Given the description of an element on the screen output the (x, y) to click on. 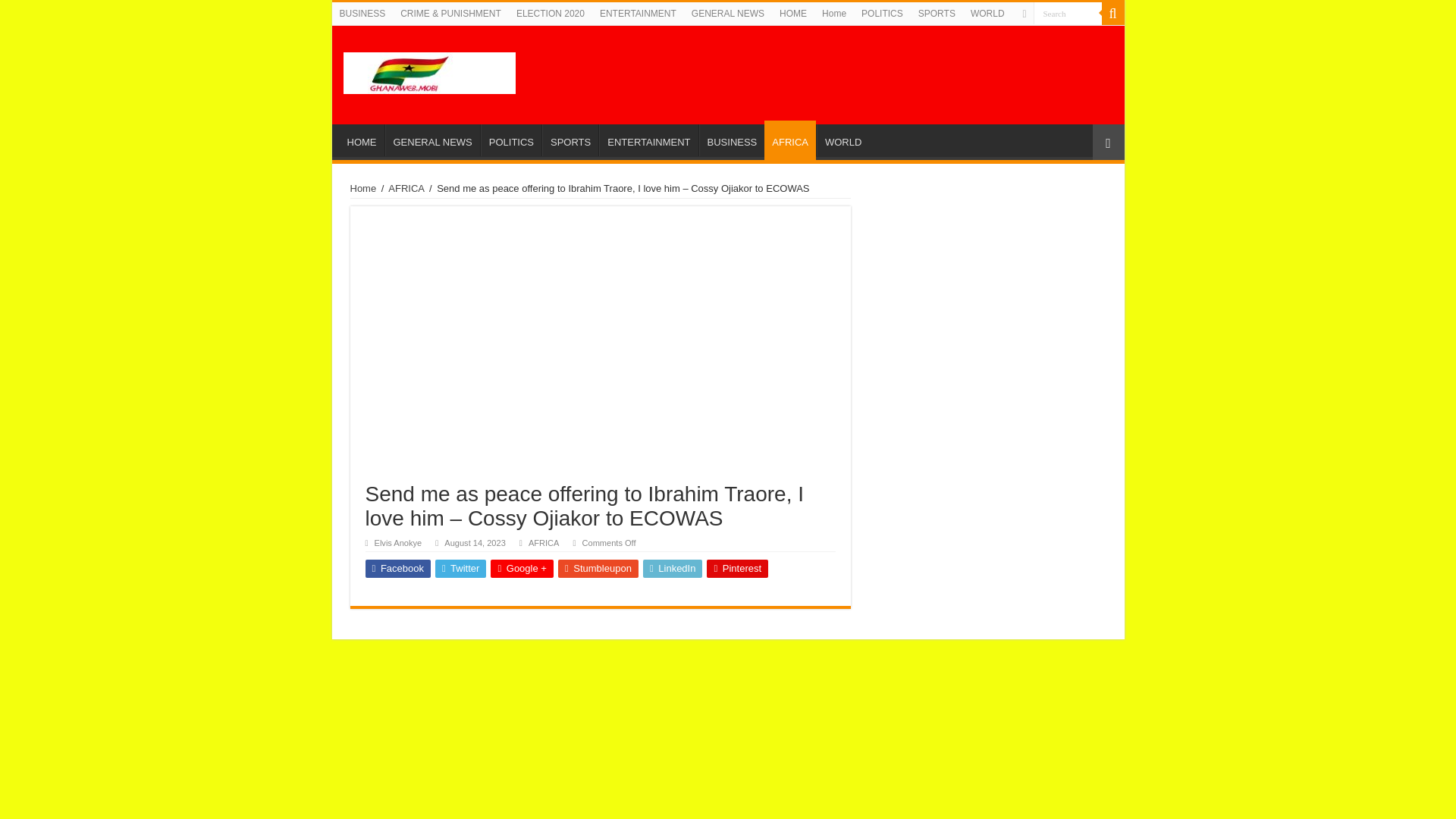
HOME (361, 140)
GENERAL NEWS (432, 140)
Search (1066, 13)
Facebook (397, 568)
Home (833, 13)
ELECTION 2020 (550, 13)
Random Article (1108, 141)
ENTERTAINMENT (638, 13)
BUSINESS (731, 140)
Search (1066, 13)
